Given the description of an element on the screen output the (x, y) to click on. 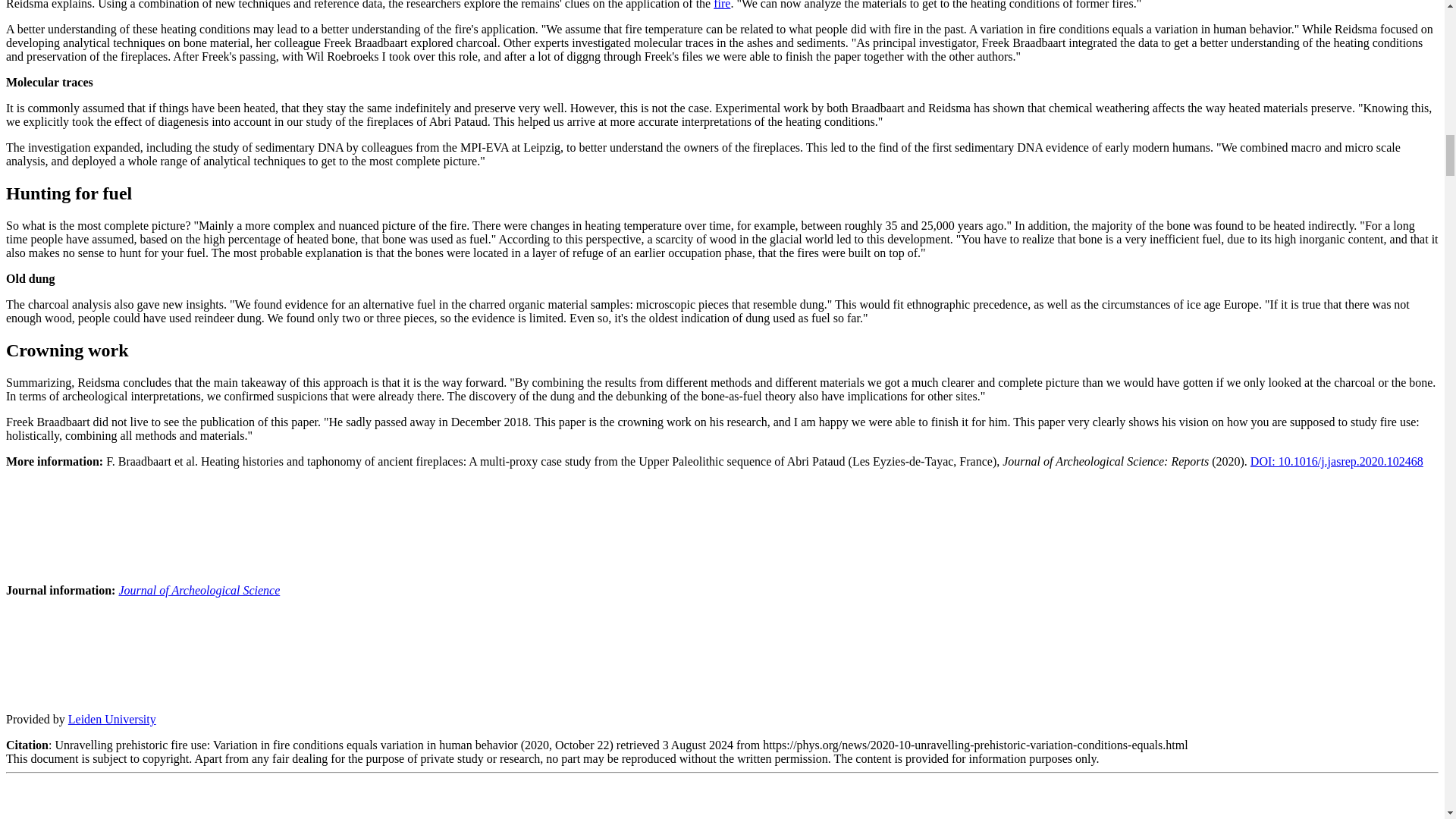
fire (721, 4)
Journal of Archeological Science (198, 590)
